Given the description of an element on the screen output the (x, y) to click on. 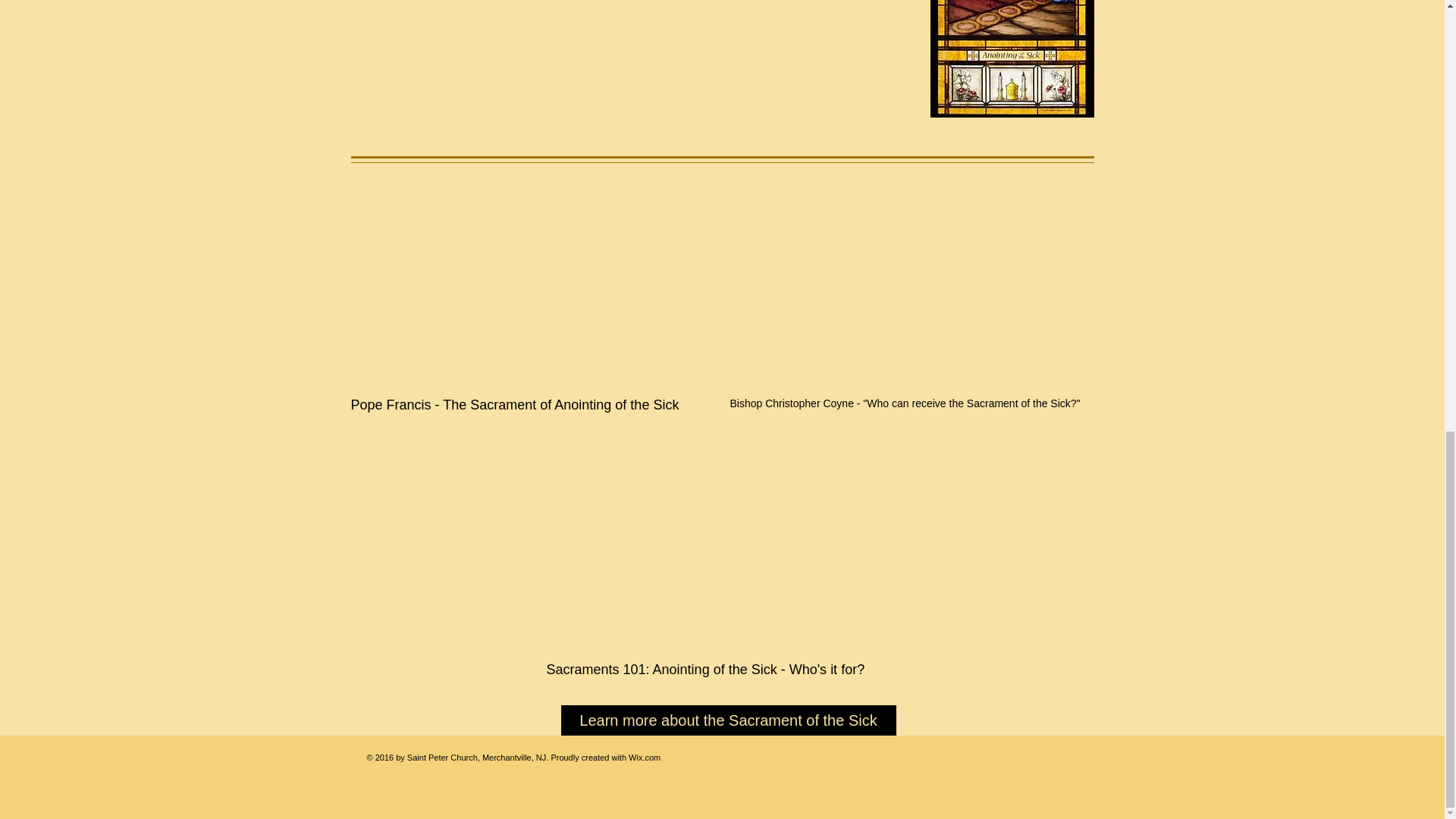
External YouTube (532, 281)
External YouTube (728, 543)
Anointing of the Sick.jpg (1011, 58)
Learn more about the Sacrament of the Sick (728, 720)
External YouTube (911, 281)
Wix.com (644, 757)
